Given the description of an element on the screen output the (x, y) to click on. 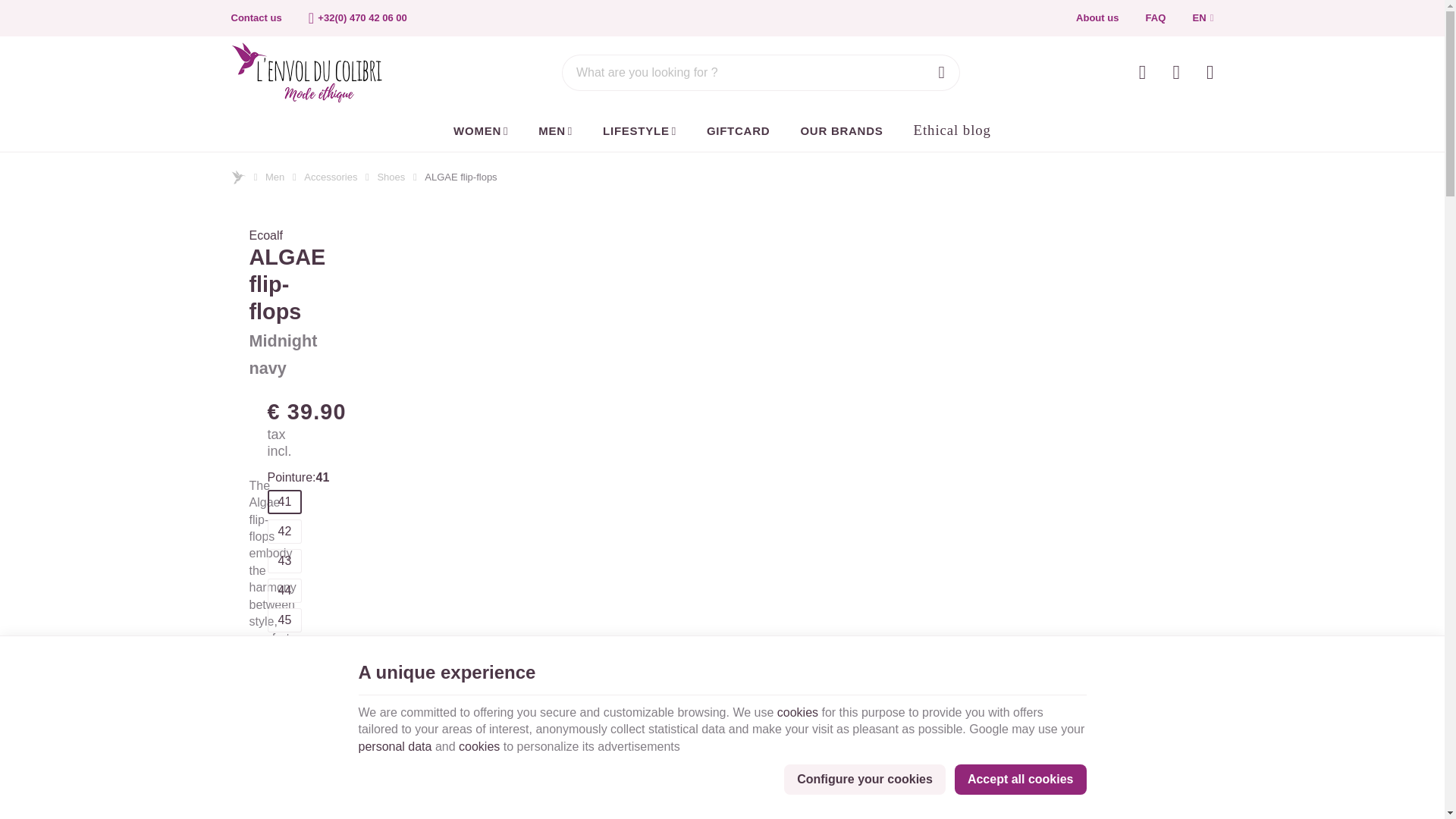
About us (1097, 18)
L'Envol du Colibri (306, 72)
Accessories (330, 177)
Men (273, 177)
Contact us (255, 18)
FAQ (1155, 18)
Contact us (255, 18)
WOMEN (480, 129)
Shoes (390, 177)
Return to Home (238, 177)
